Given the description of an element on the screen output the (x, y) to click on. 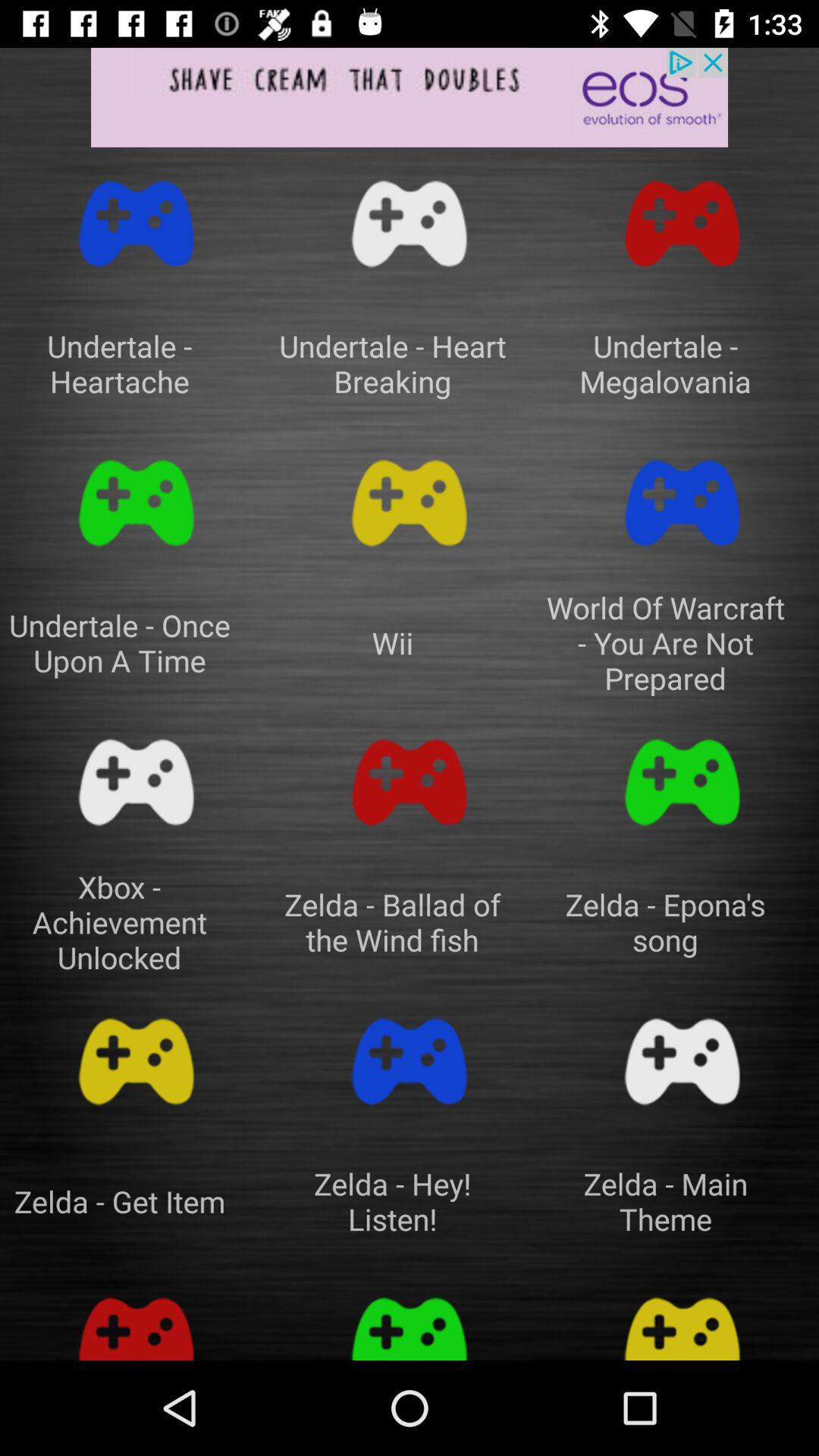
select song (136, 223)
